Given the description of an element on the screen output the (x, y) to click on. 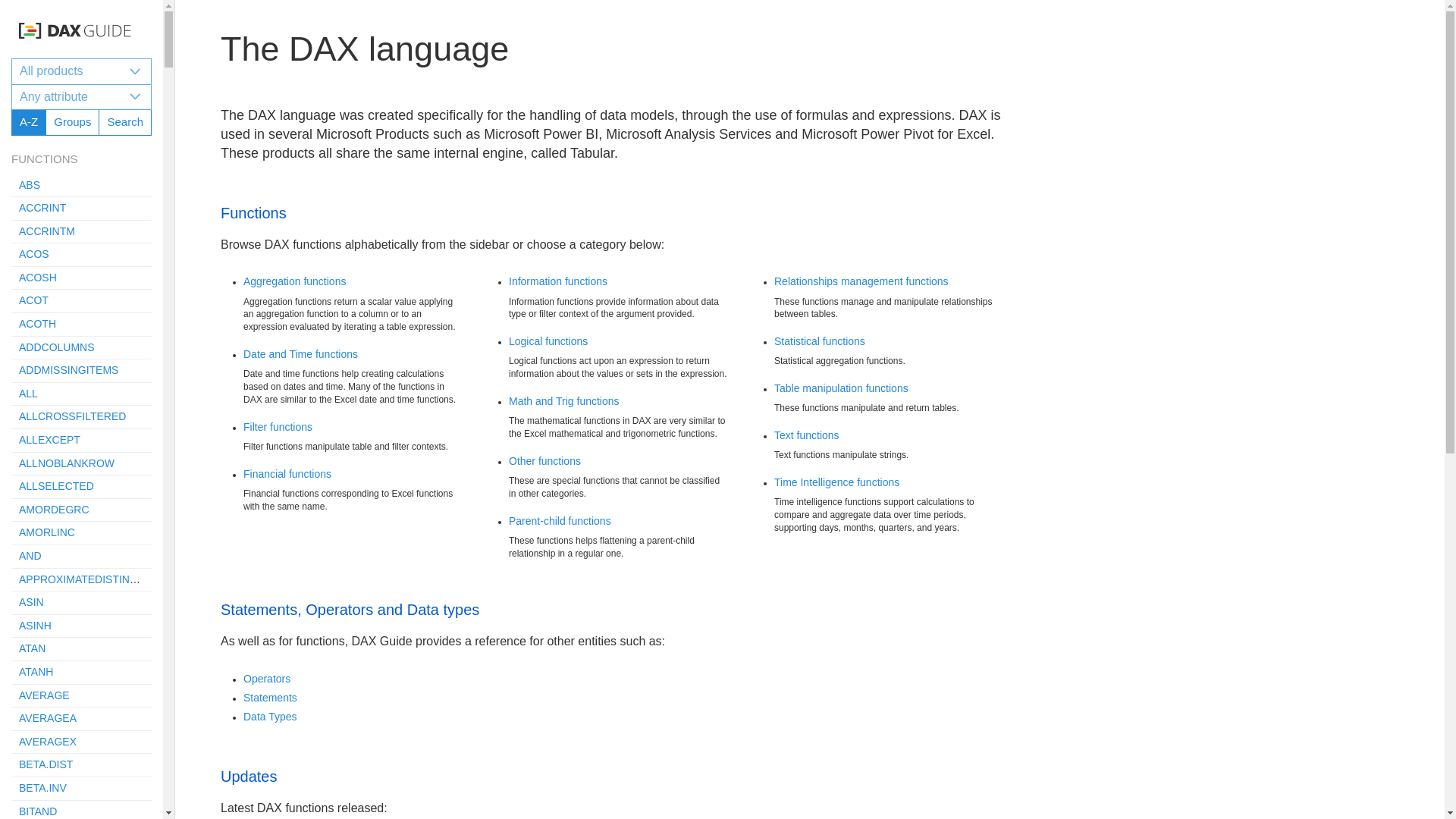
ALL (81, 394)
ALLEXCEPT (81, 440)
ACOT (81, 300)
AND (30, 555)
AMORDEGRC (53, 509)
ACOS (81, 254)
ASINH (34, 625)
AVERAGE (43, 695)
BETA.INV (42, 787)
ACOTH (37, 323)
ATAN (31, 648)
AND (81, 556)
ALL (27, 393)
ALLEXCEPT (49, 439)
ALLSELECTED (81, 486)
